Given the description of an element on the screen output the (x, y) to click on. 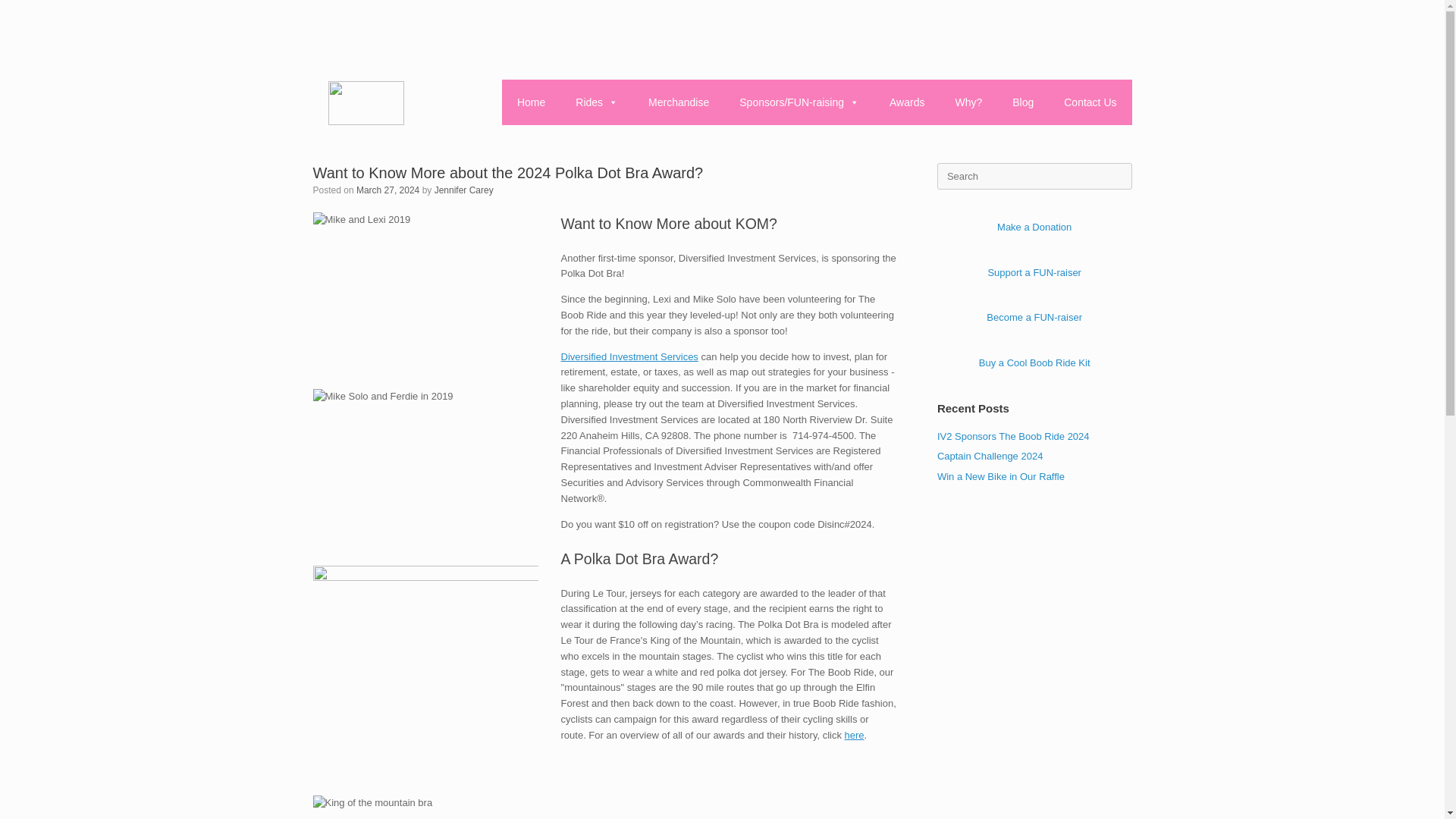
PXL 20230429 142519521 (425, 663)
Diversified Investment Services (629, 356)
here (854, 735)
Contact Us (1089, 102)
Blog (1022, 102)
Merchandise (678, 102)
Awards (907, 102)
View all posts by Jennifer Carey (463, 190)
March 27, 2024 (387, 190)
Jennifer Carey (463, 190)
Home (531, 102)
Why? (968, 102)
7:10 pm (387, 190)
Mike And Lexi (425, 287)
Rides (596, 102)
